Given the description of an element on the screen output the (x, y) to click on. 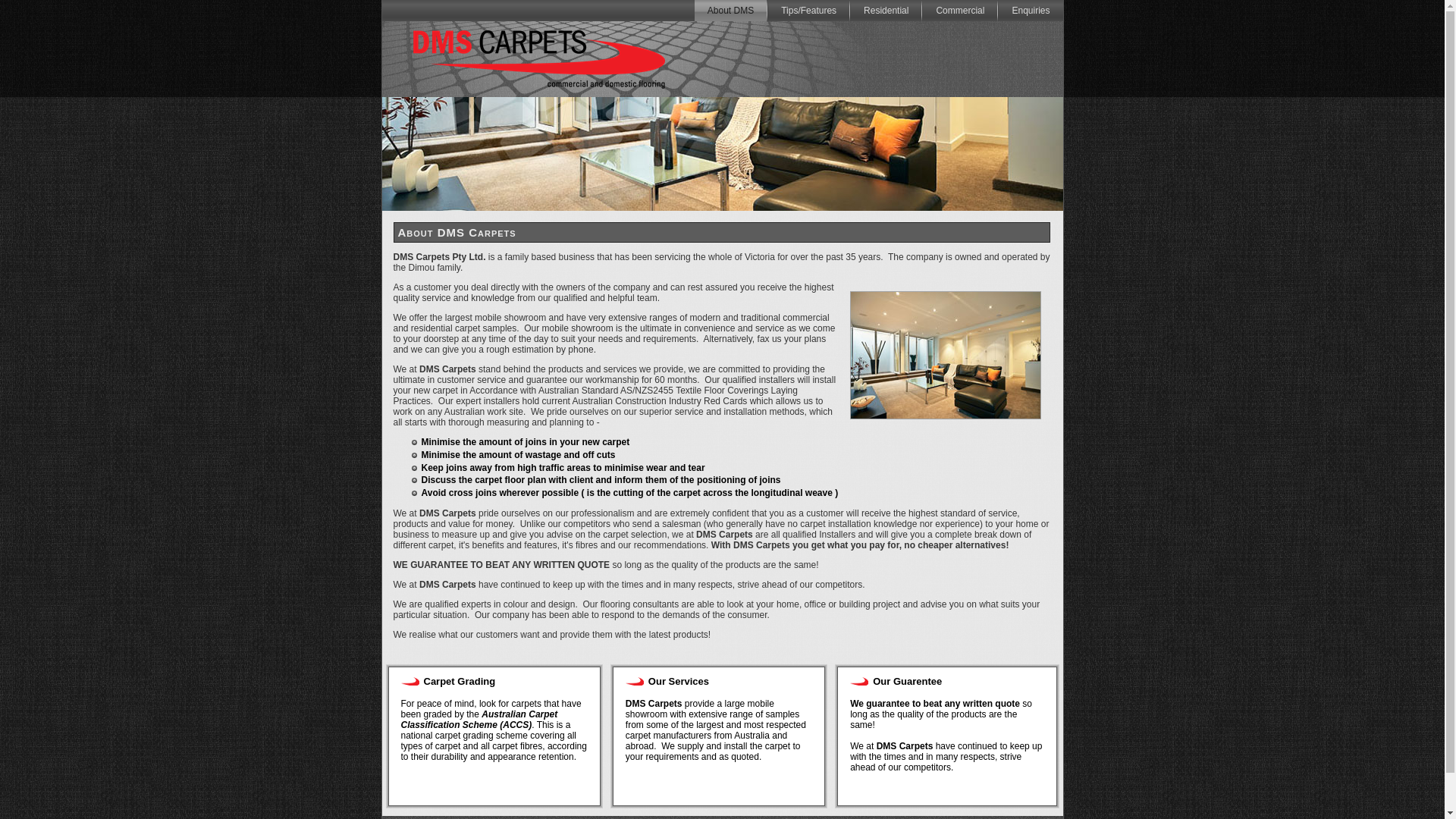
Tips/Features Element type: text (808, 10)
About DMS Carpets Element type: hover (944, 355)
Commercial Element type: text (959, 10)
Residential Element type: text (885, 10)
About DMS Element type: text (730, 10)
Enquiries Element type: text (1030, 10)
